Given the description of an element on the screen output the (x, y) to click on. 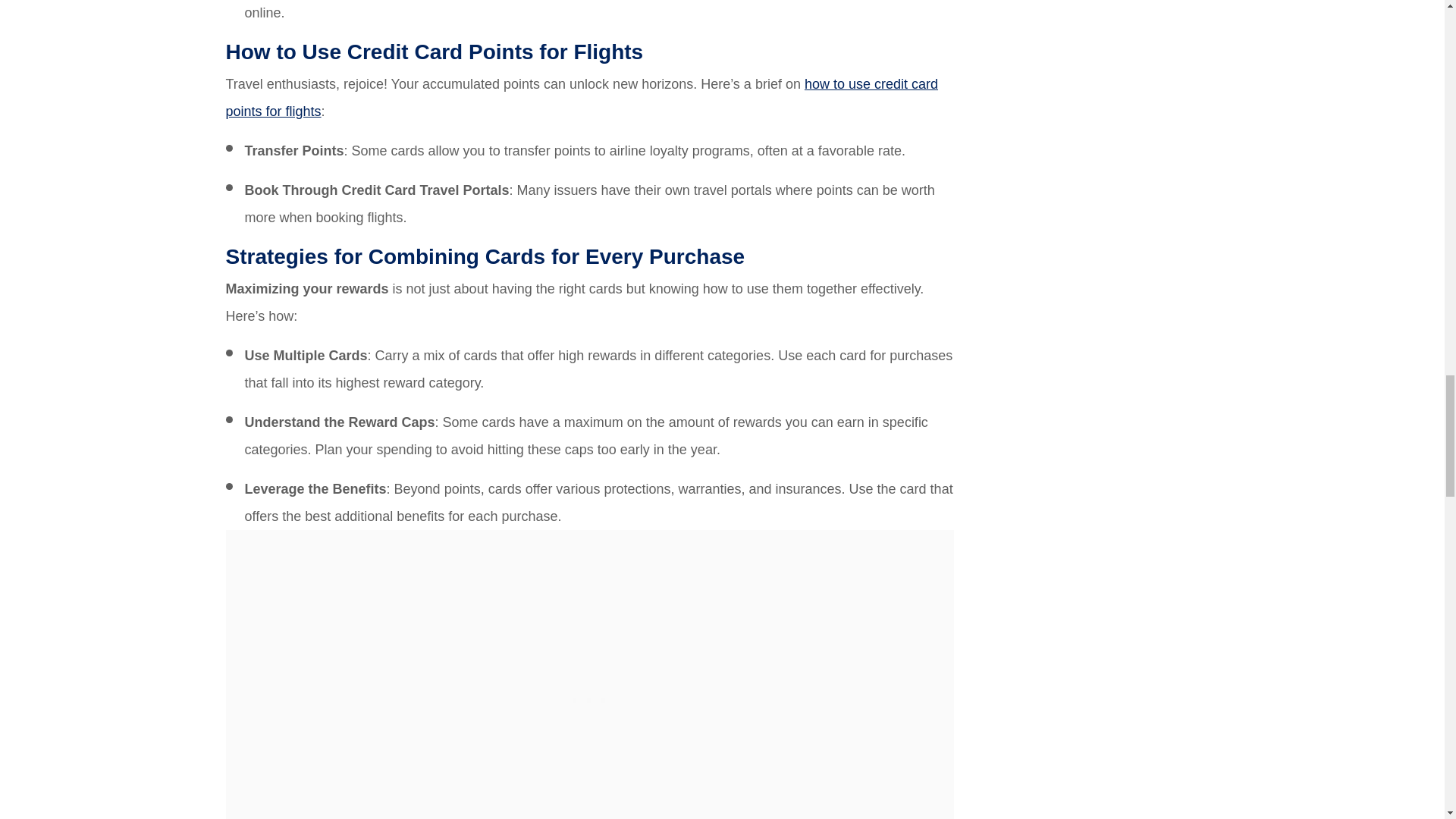
how to use credit card points for flights (582, 97)
